Given the description of an element on the screen output the (x, y) to click on. 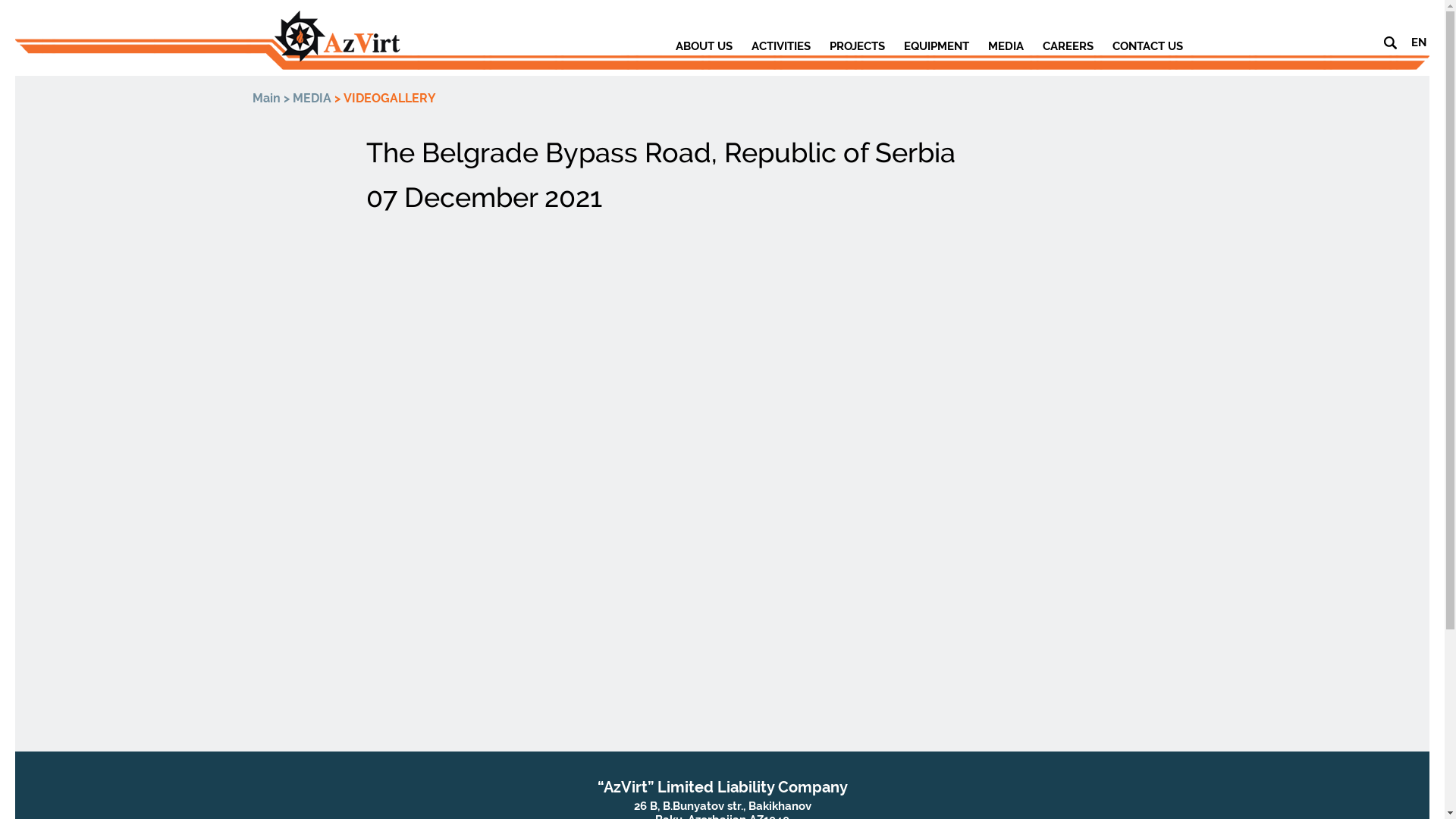
MEDIA Element type: text (1004, 46)
EQUIPMENT Element type: text (936, 46)
MEDIA Element type: text (311, 98)
CAREERS Element type: text (1066, 46)
PROJECTS Element type: text (856, 46)
ACTIVITIES Element type: text (779, 46)
CONTACT US Element type: text (1146, 46)
VIDEOGALLERY Element type: text (388, 98)
ABOUT US Element type: text (702, 46)
Main Element type: text (265, 98)
